Given the description of an element on the screen output the (x, y) to click on. 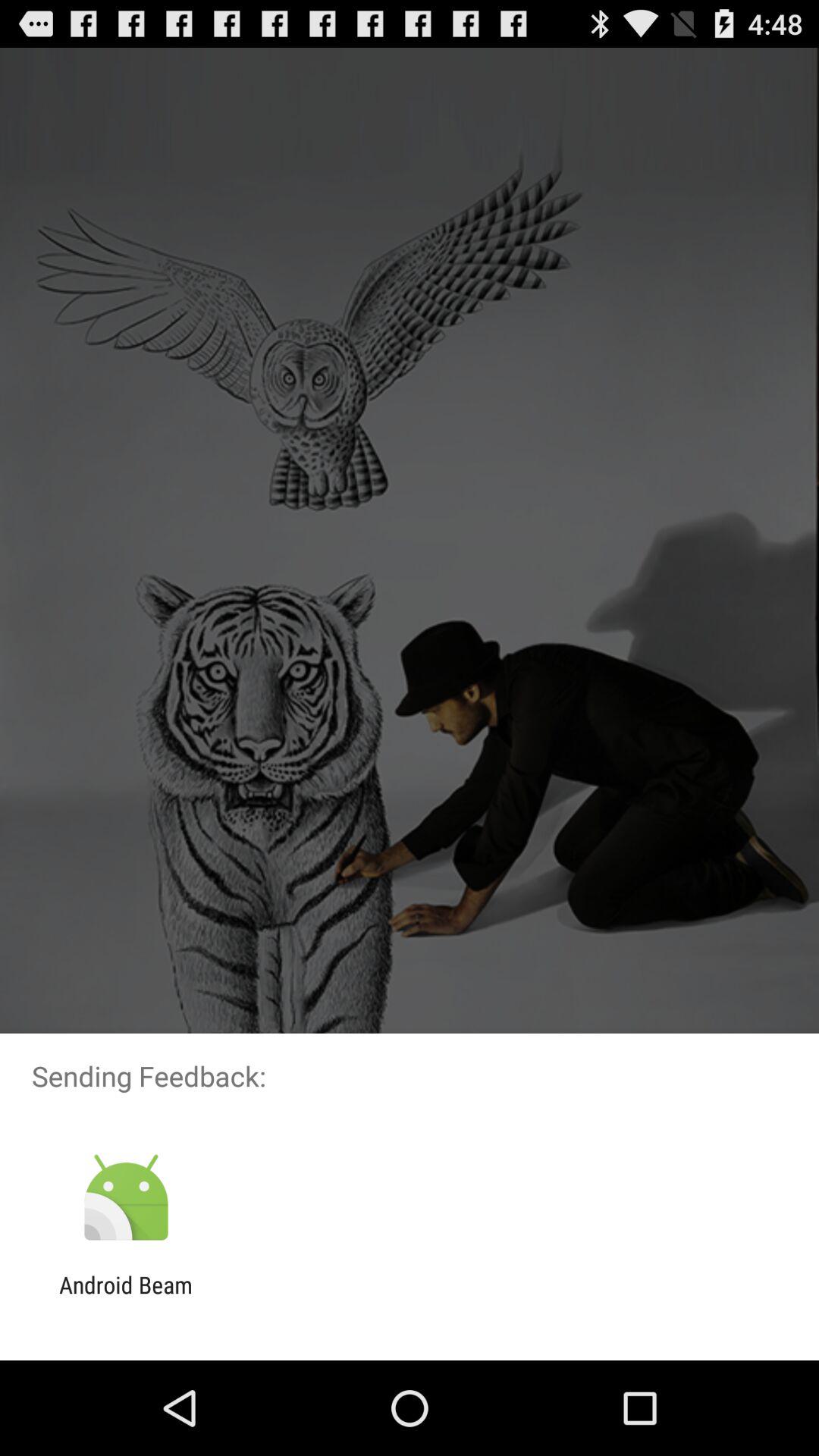
swipe to android beam item (125, 1298)
